Given the description of an element on the screen output the (x, y) to click on. 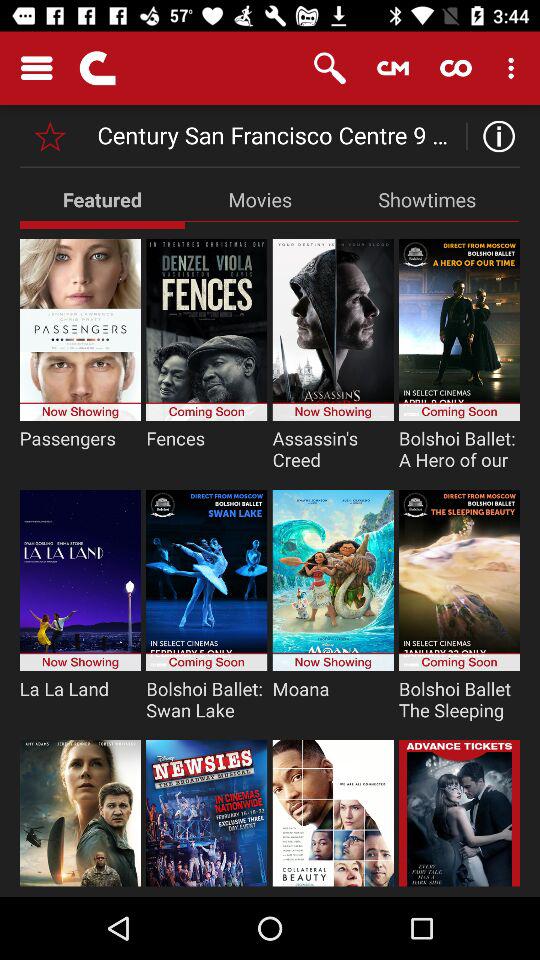
click the featured (102, 199)
